Given the description of an element on the screen output the (x, y) to click on. 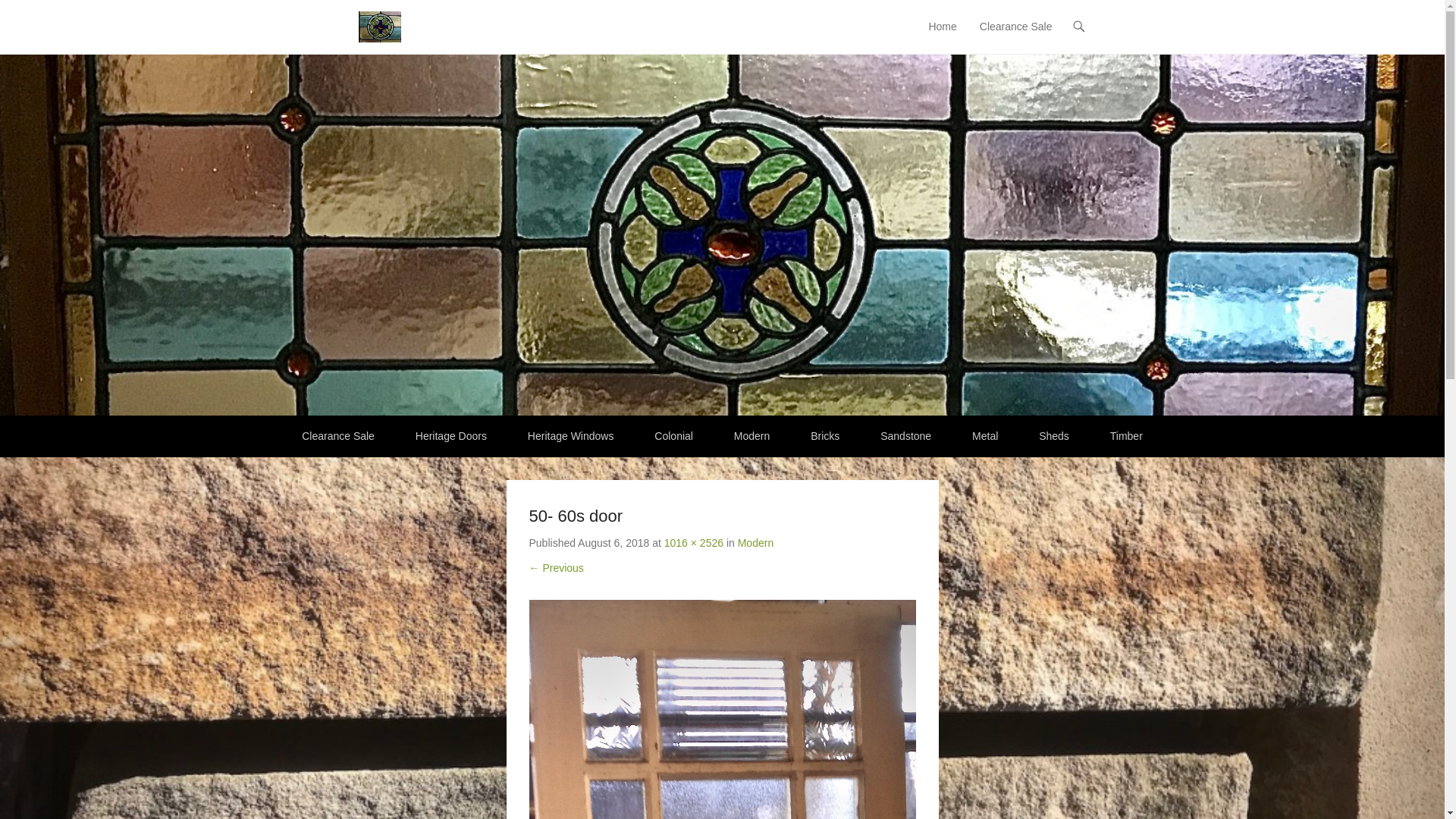
Metal Element type: text (984, 436)
Clearance Sale Element type: text (1016, 35)
Colonial Element type: text (673, 436)
Sheds Element type: text (1053, 436)
Skip to content Element type: text (955, 27)
Bricks Element type: text (824, 436)
Modern Element type: text (755, 542)
Sandstone Element type: text (905, 436)
Heritage Windows Element type: text (570, 436)
Moss Vale Recycled Timber & Building Centre Element type: text (599, 20)
Heritage Doors Element type: text (450, 436)
Timber Element type: text (1126, 436)
Modern Element type: text (751, 436)
Clearance Sale Element type: text (337, 436)
Home Element type: text (941, 35)
